Given the description of an element on the screen output the (x, y) to click on. 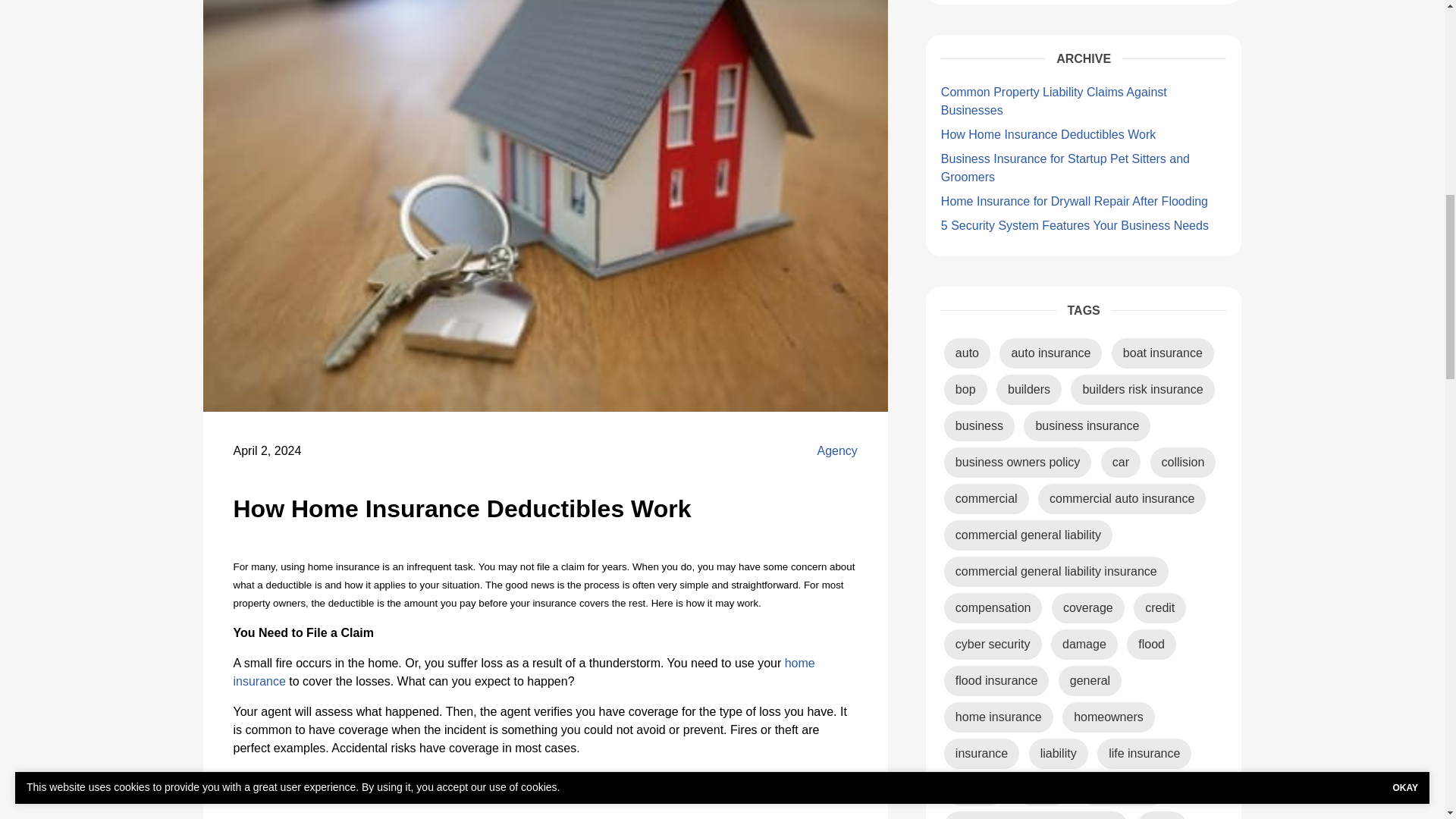
Agency (836, 451)
